Given the description of an element on the screen output the (x, y) to click on. 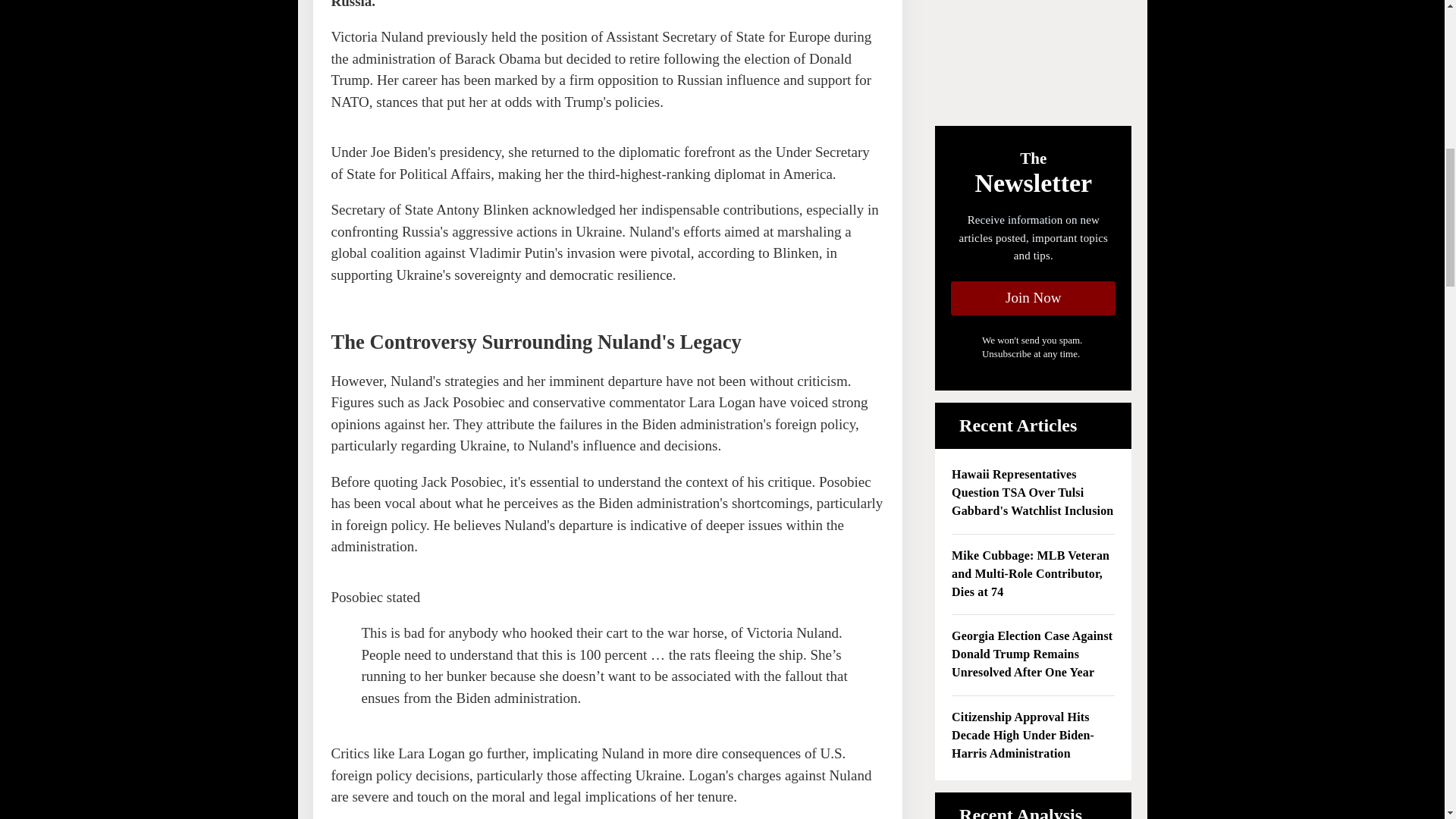
Join Now (1032, 298)
